Given the description of an element on the screen output the (x, y) to click on. 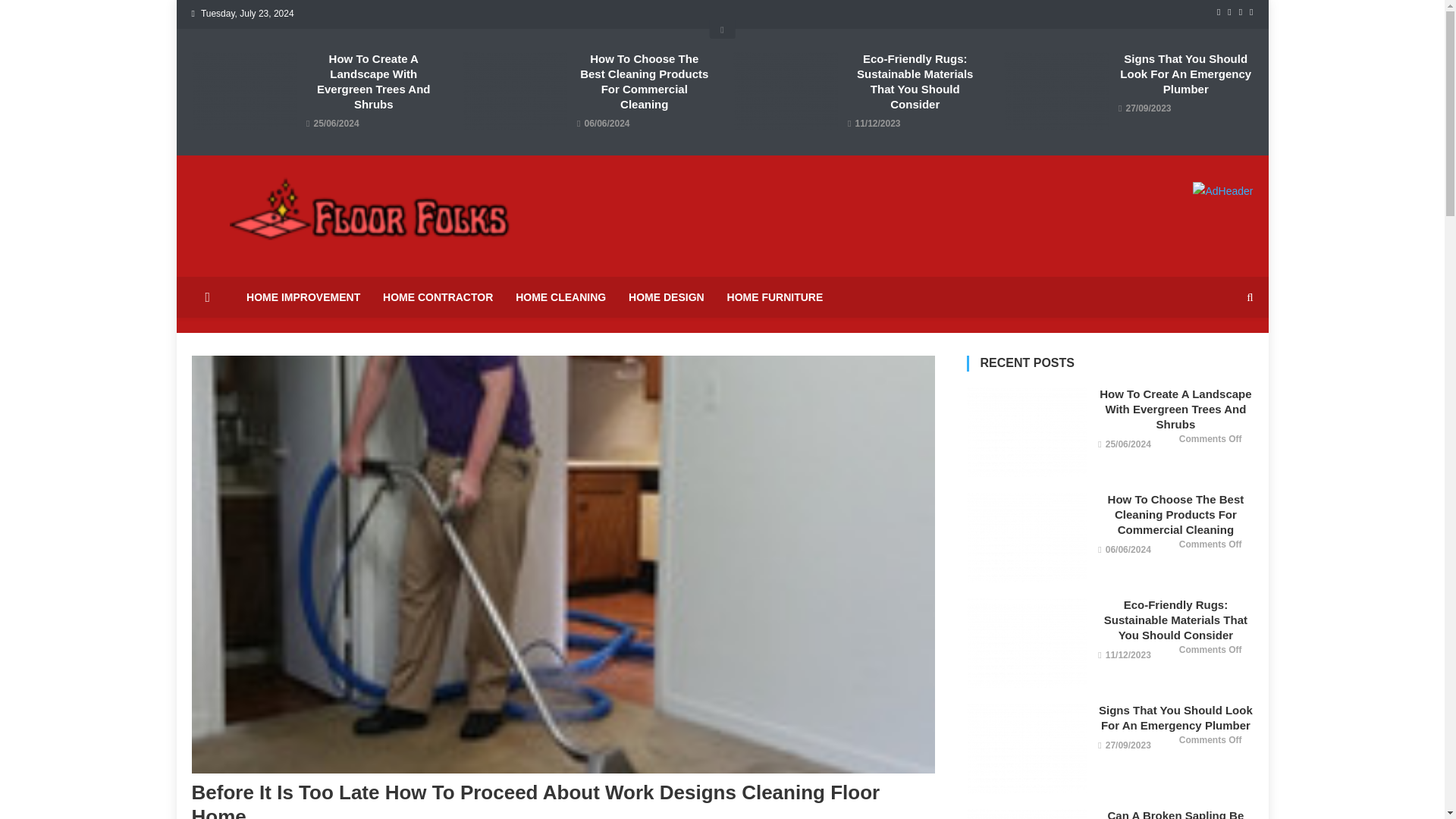
HOME CONTRACTOR (437, 296)
HOME CLEANING (560, 296)
Feature Posts (722, 29)
Can a Broken Sapling Be Saved (1026, 813)
How to Create a Landscape with Evergreen Trees and Shrubs (1026, 431)
Signs That You Should Look For An Emergency Plumber (1185, 74)
HOME FURNITURE (775, 296)
Signs that You Should Look for an Emergency Plumber (1056, 90)
Signs that You Should Look for an Emergency Plumber (1026, 747)
HOME IMPROVEMENT (302, 296)
HOME DESIGN (666, 296)
Floor Folks (255, 261)
